Given the description of an element on the screen output the (x, y) to click on. 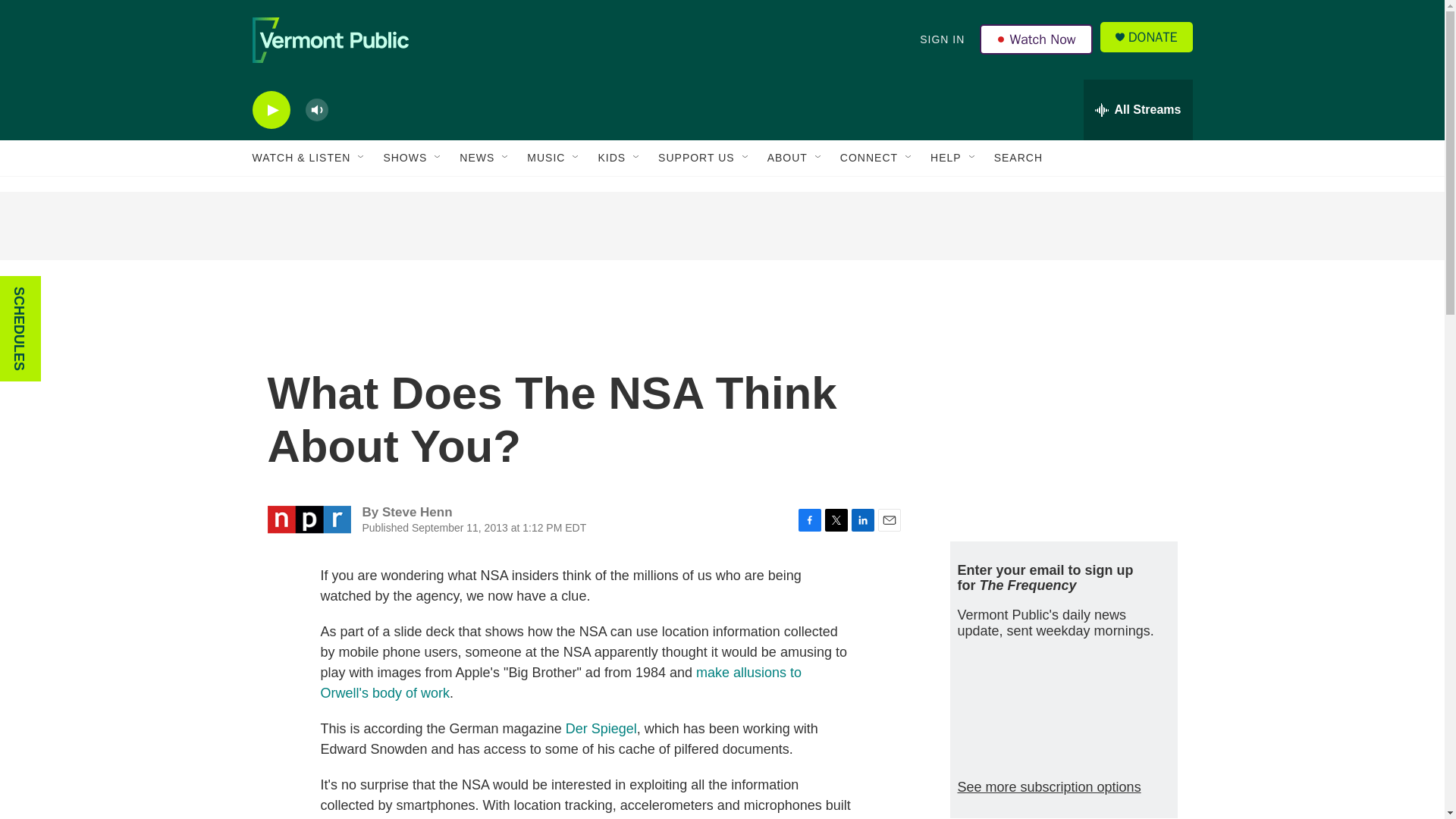
3rd party ad content (1062, 416)
3rd party ad content (721, 225)
